Given the description of an element on the screen output the (x, y) to click on. 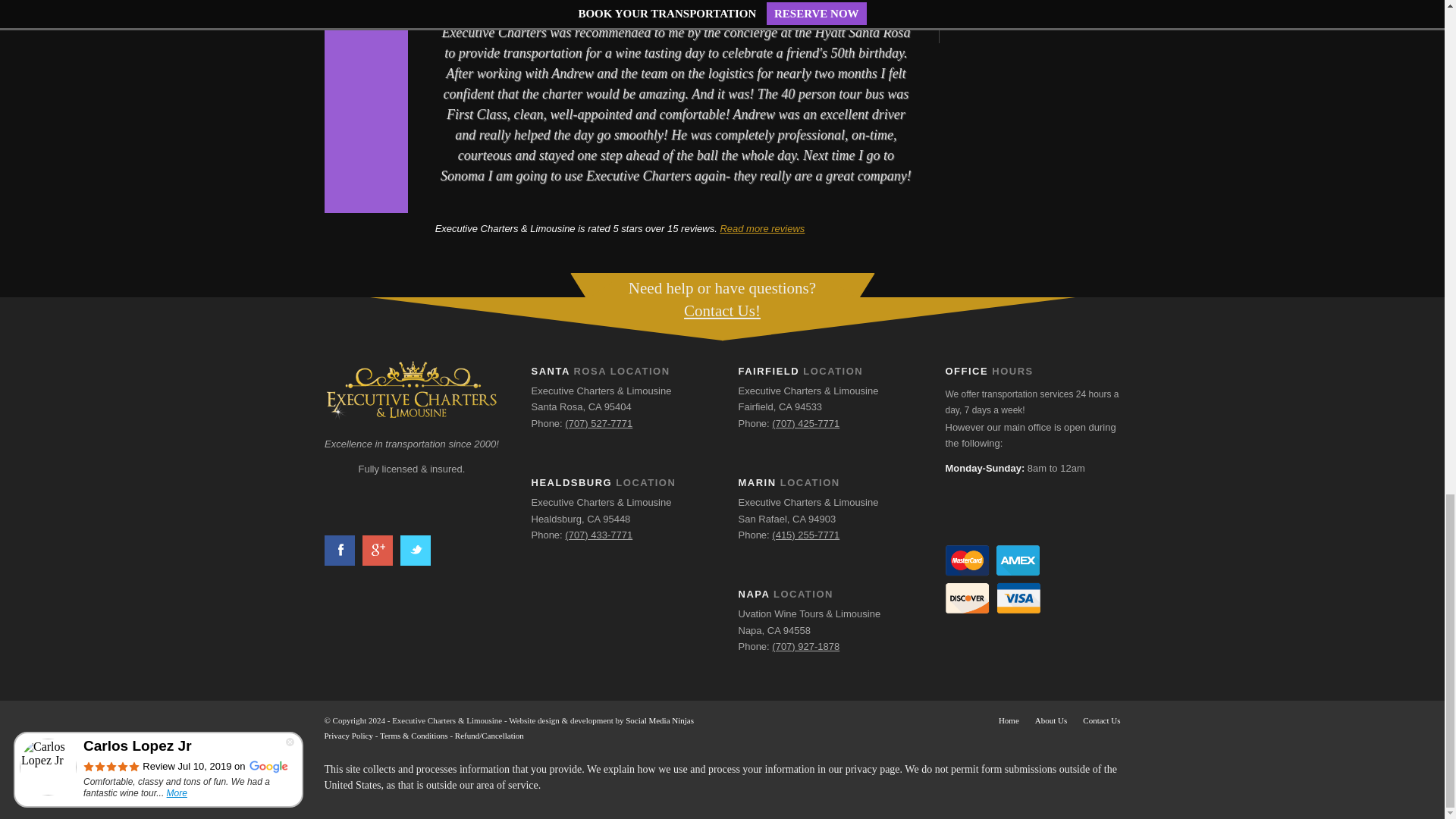
5 (365, 8)
Read more reviews (762, 228)
